Given the description of an element on the screen output the (x, y) to click on. 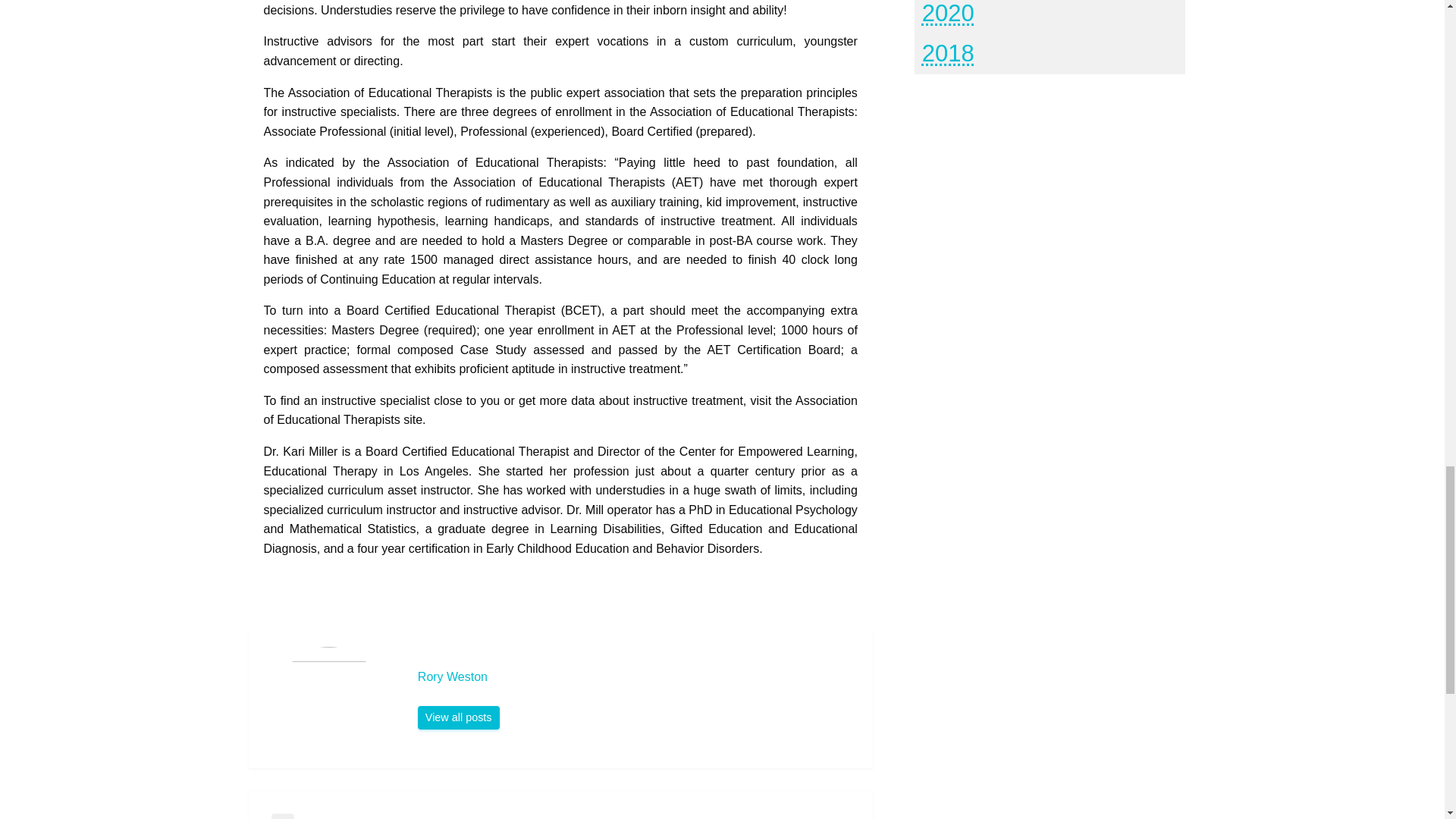
View all posts (458, 717)
Rory Weston (458, 717)
Rory Weston (637, 676)
Rory Weston (637, 676)
